Given the description of an element on the screen output the (x, y) to click on. 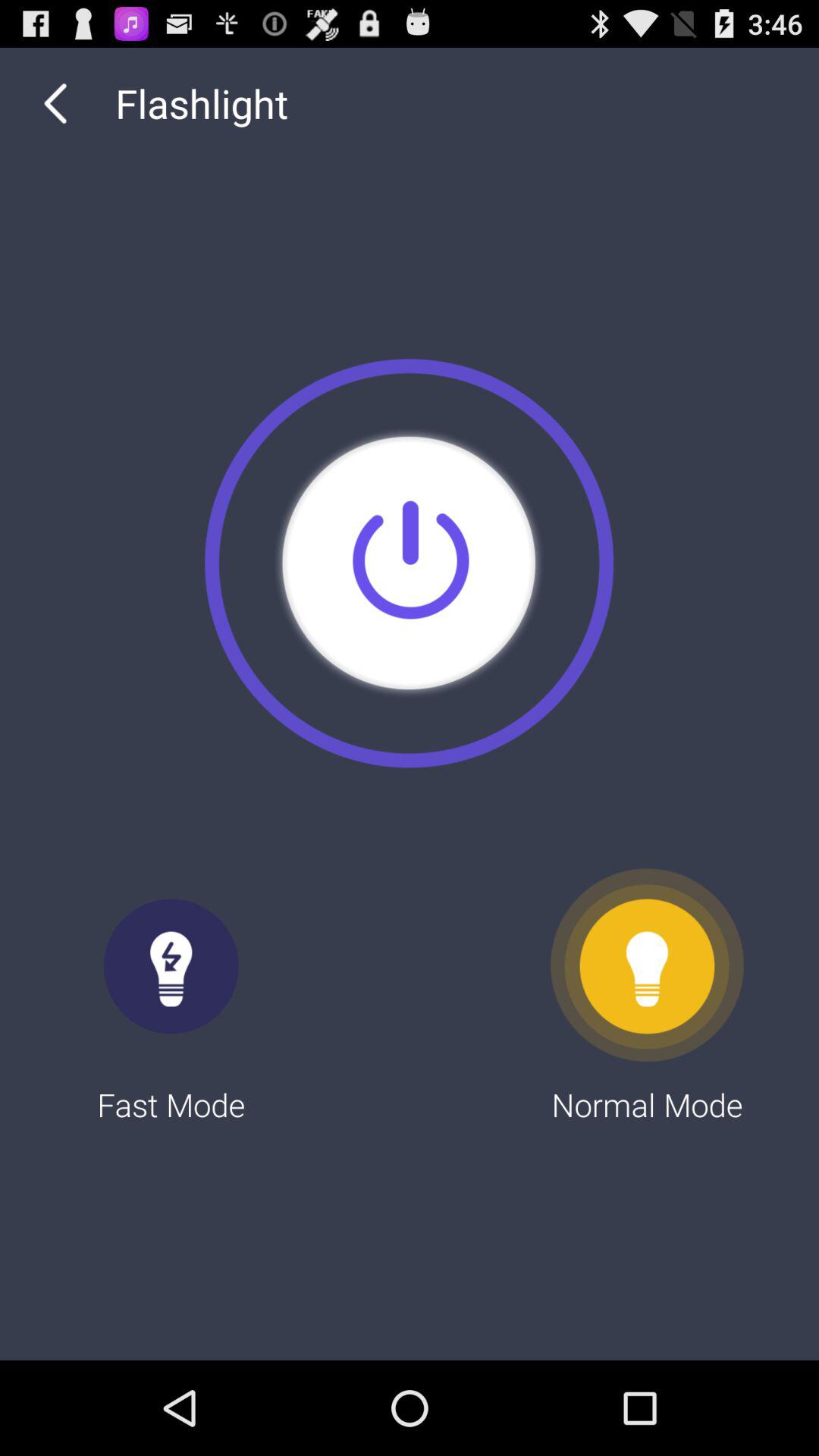
turn on the item above fast mode (408, 562)
